Given the description of an element on the screen output the (x, y) to click on. 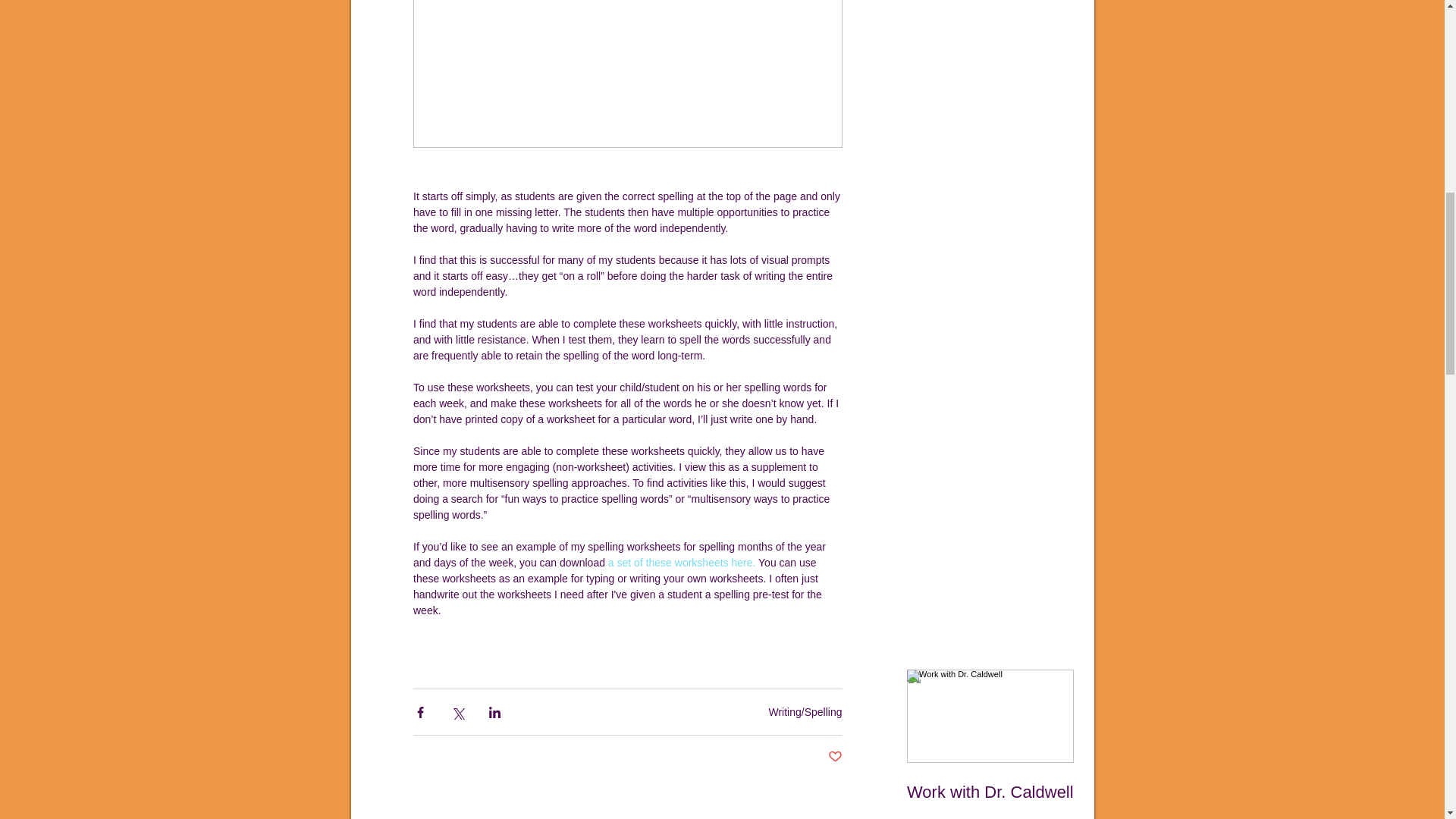
a set of these worksheets here. (681, 562)
Work with Dr. Caldwell (990, 744)
Work with Dr. Caldwell (990, 792)
Post not marked as liked (835, 756)
Work with Dr. Caldwell (990, 744)
